Given the description of an element on the screen output the (x, y) to click on. 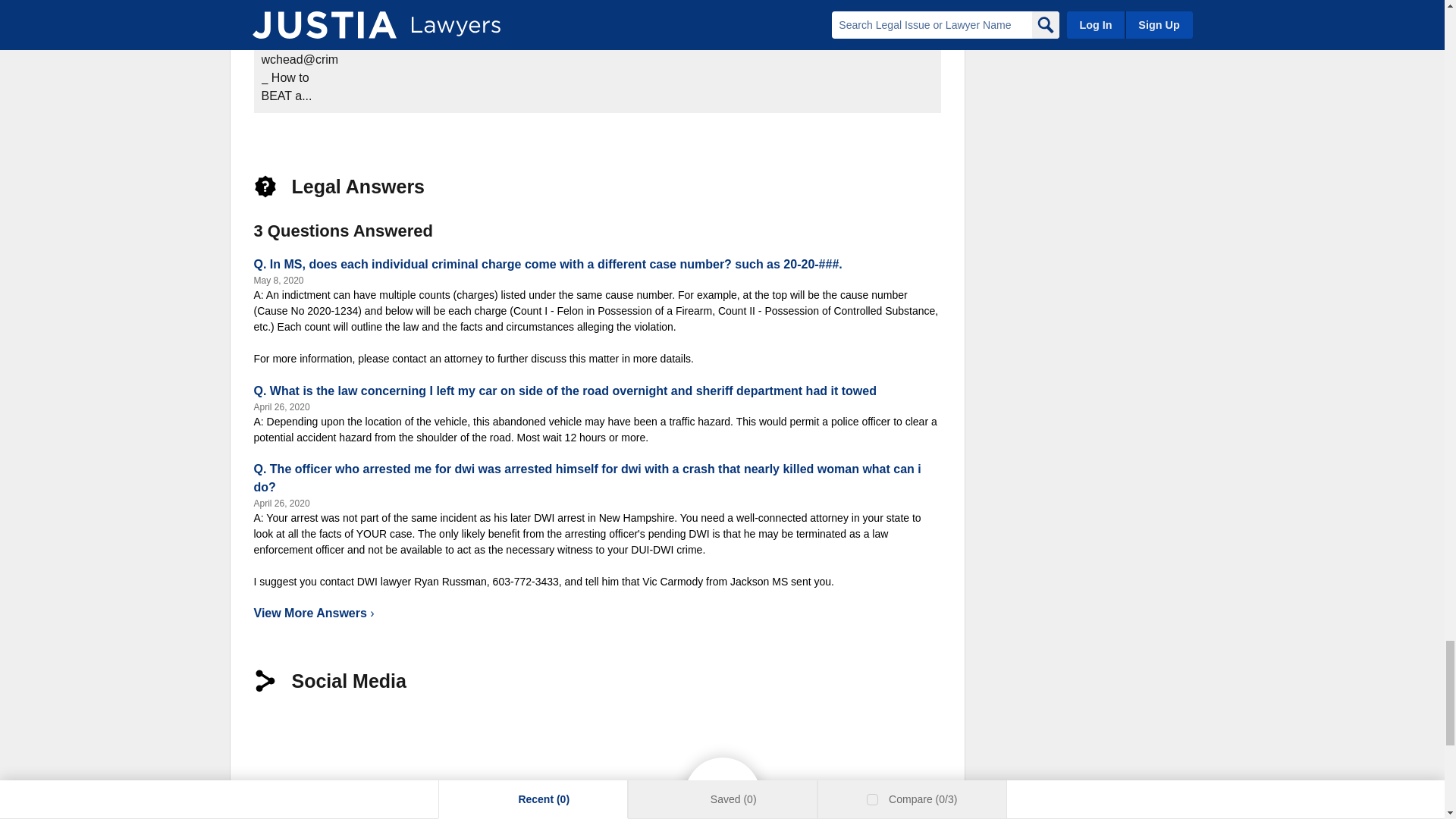
Vic Carmody Jr's Avvo Profile (381, 730)
Vic Carmody Jr on LinkedIn (275, 730)
Vic Carmody Jr's Lawyers.com Profile (435, 730)
Vic Carmody Jr's Martindale Profile (488, 730)
 Justia Profile (328, 730)
